Given the description of an element on the screen output the (x, y) to click on. 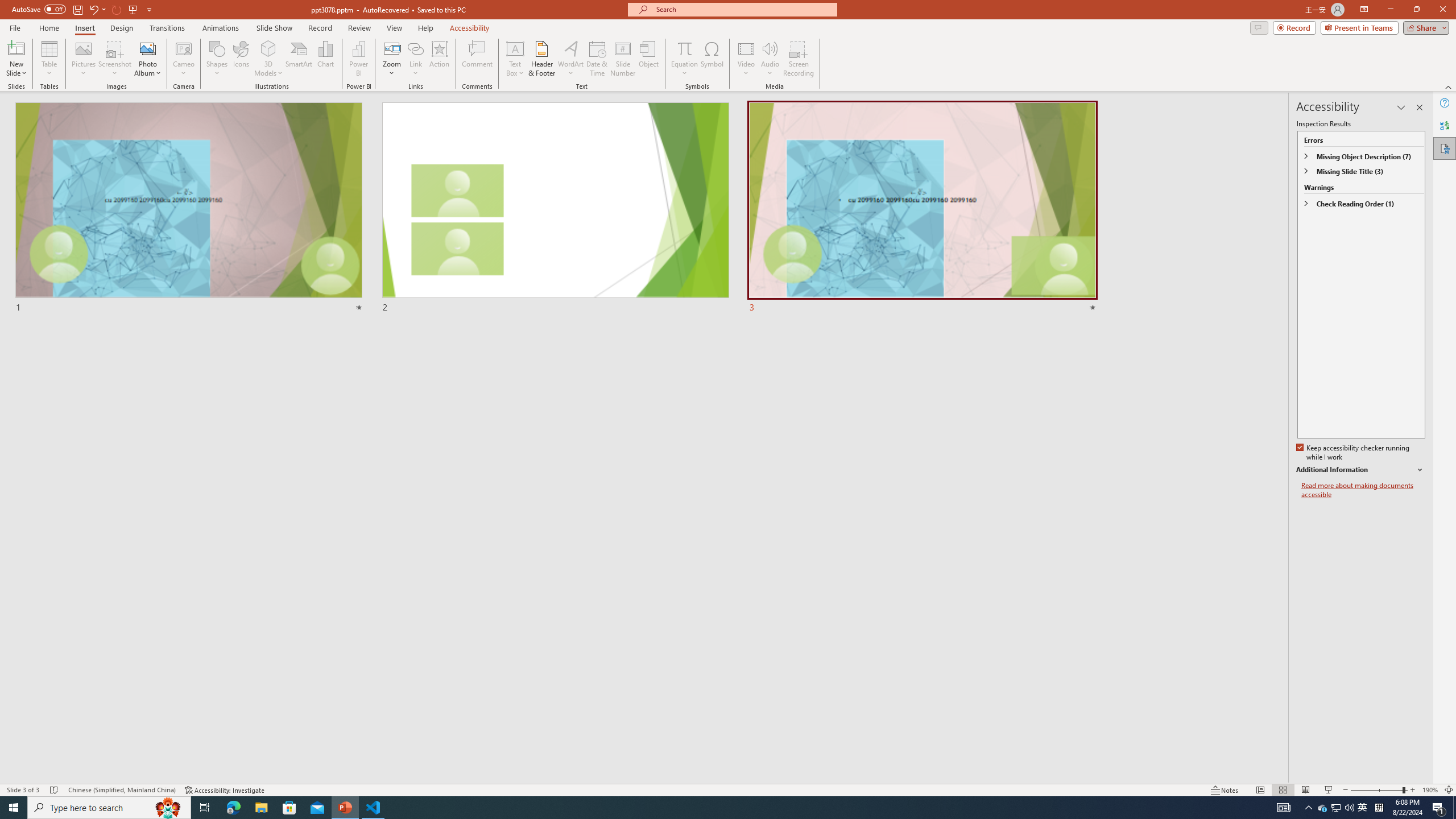
Additional Information (1360, 469)
Screen Recording... (798, 58)
Comment (476, 58)
Object... (649, 58)
SmartArt... (298, 58)
Equation (683, 48)
Video (745, 58)
Slide Number (622, 58)
